Given the description of an element on the screen output the (x, y) to click on. 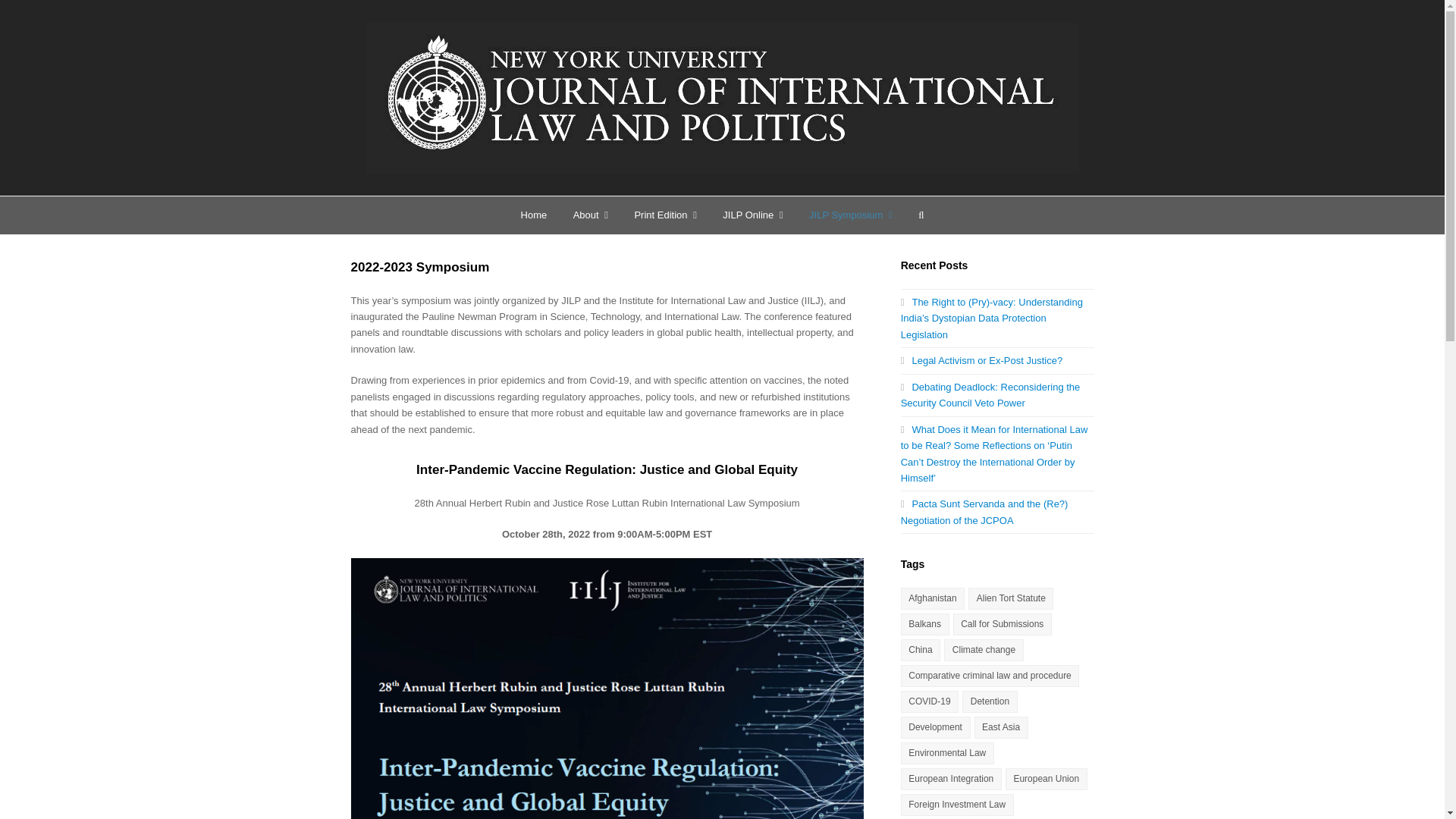
JILP Online (752, 215)
About (590, 215)
Print Edition (665, 215)
Home (532, 215)
JILP Symposium (850, 215)
NYU JILP (721, 97)
Legal Activism or Ex-Post Justice? (981, 360)
